Given the description of an element on the screen output the (x, y) to click on. 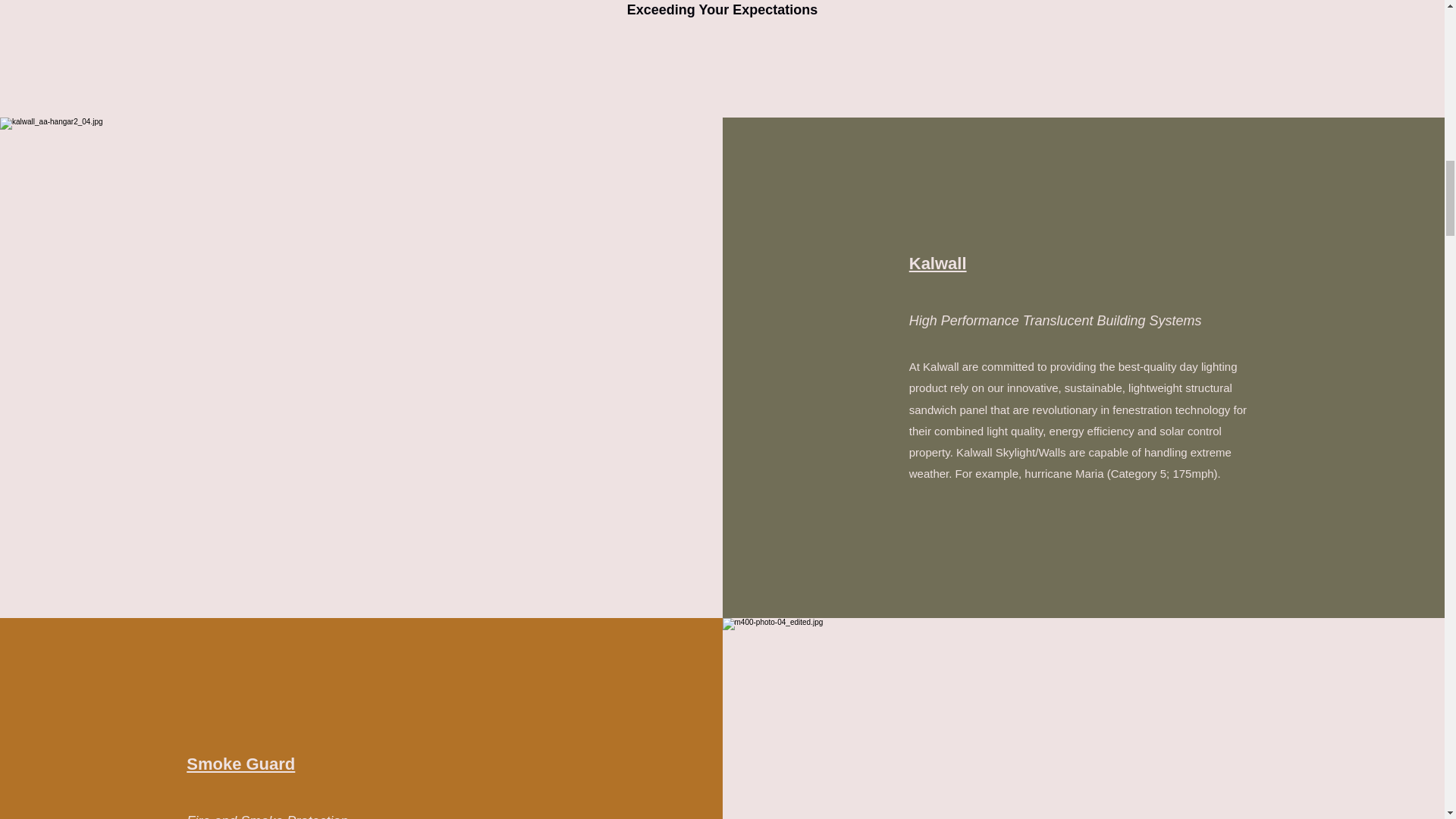
Smoke Guard (240, 763)
Kalwall (937, 262)
